Given the description of an element on the screen output the (x, y) to click on. 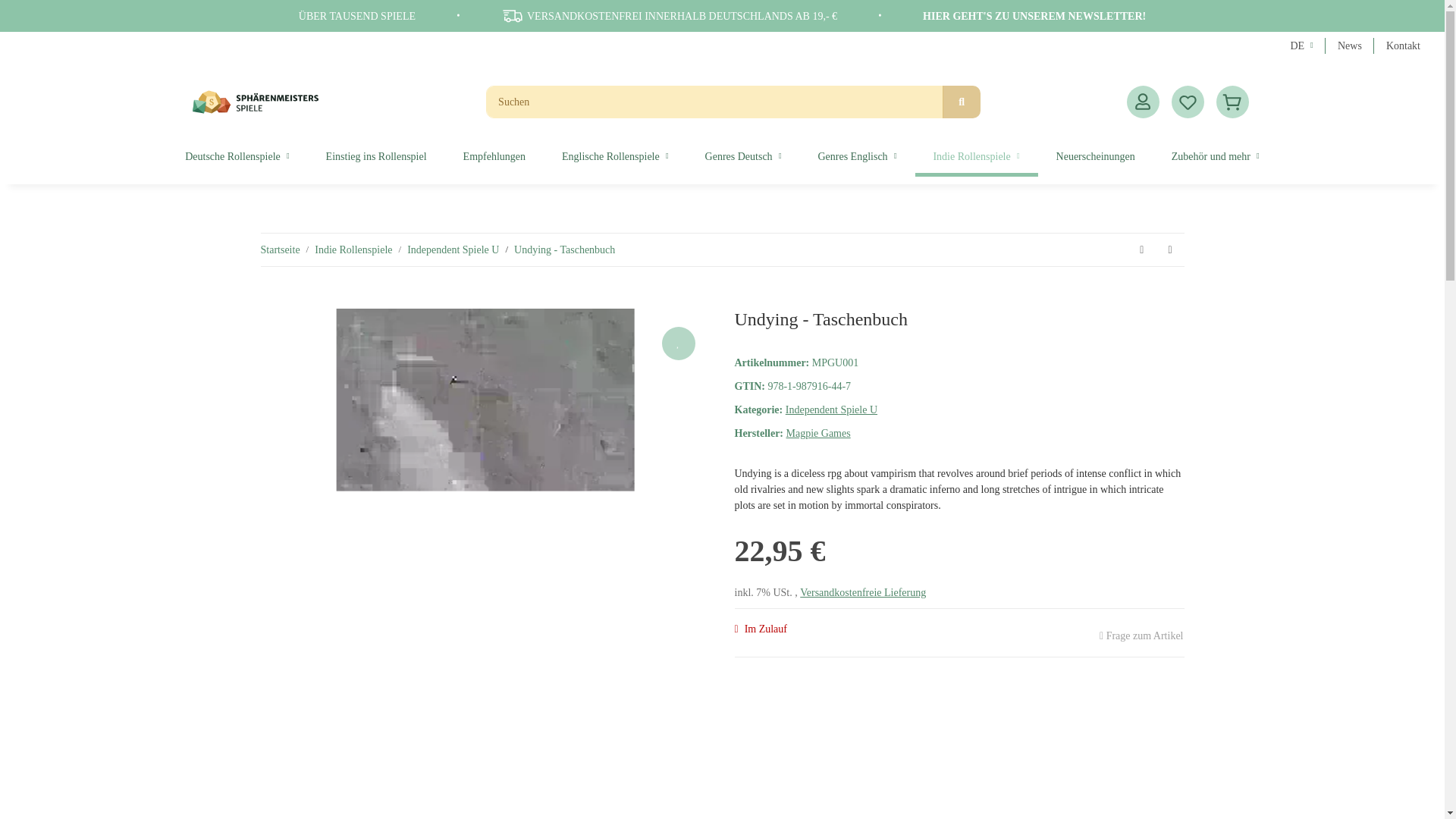
Genres Deutsch (743, 156)
Neuerscheinungen (1095, 156)
Einstieg ins Rollenspiel (376, 156)
Einstieg ins Rollenspiel (376, 156)
Indie Rollenspiele (975, 156)
Neuerscheinungen (1095, 156)
Aktuelle Neuigkeiten (1349, 45)
Genres Englisch (856, 156)
Kontaktformular (1403, 45)
Englische Rollenspiele (615, 156)
